Given the description of an element on the screen output the (x, y) to click on. 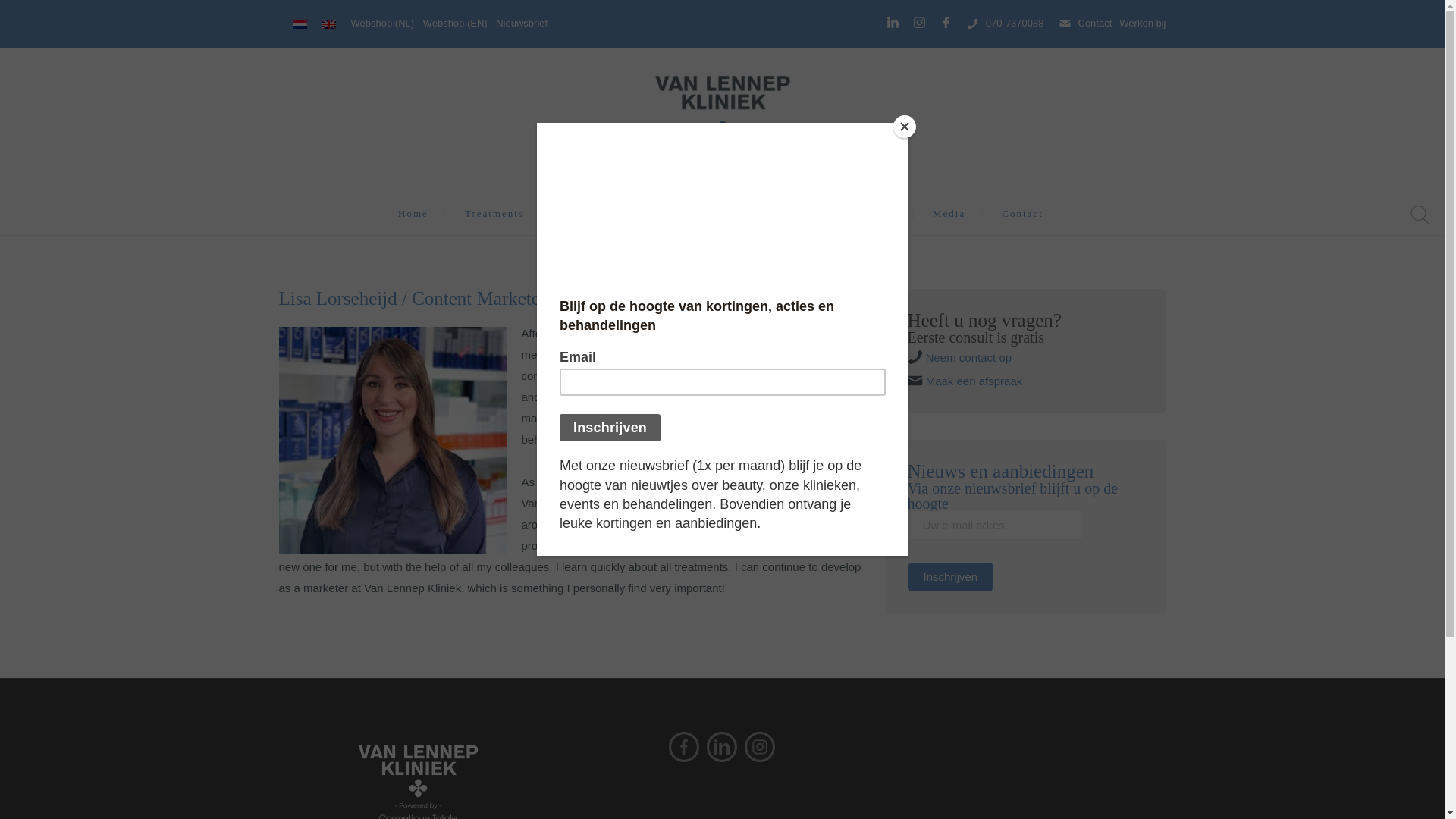
Inschrijven (949, 576)
Search (890, 409)
